Given the description of an element on the screen output the (x, y) to click on. 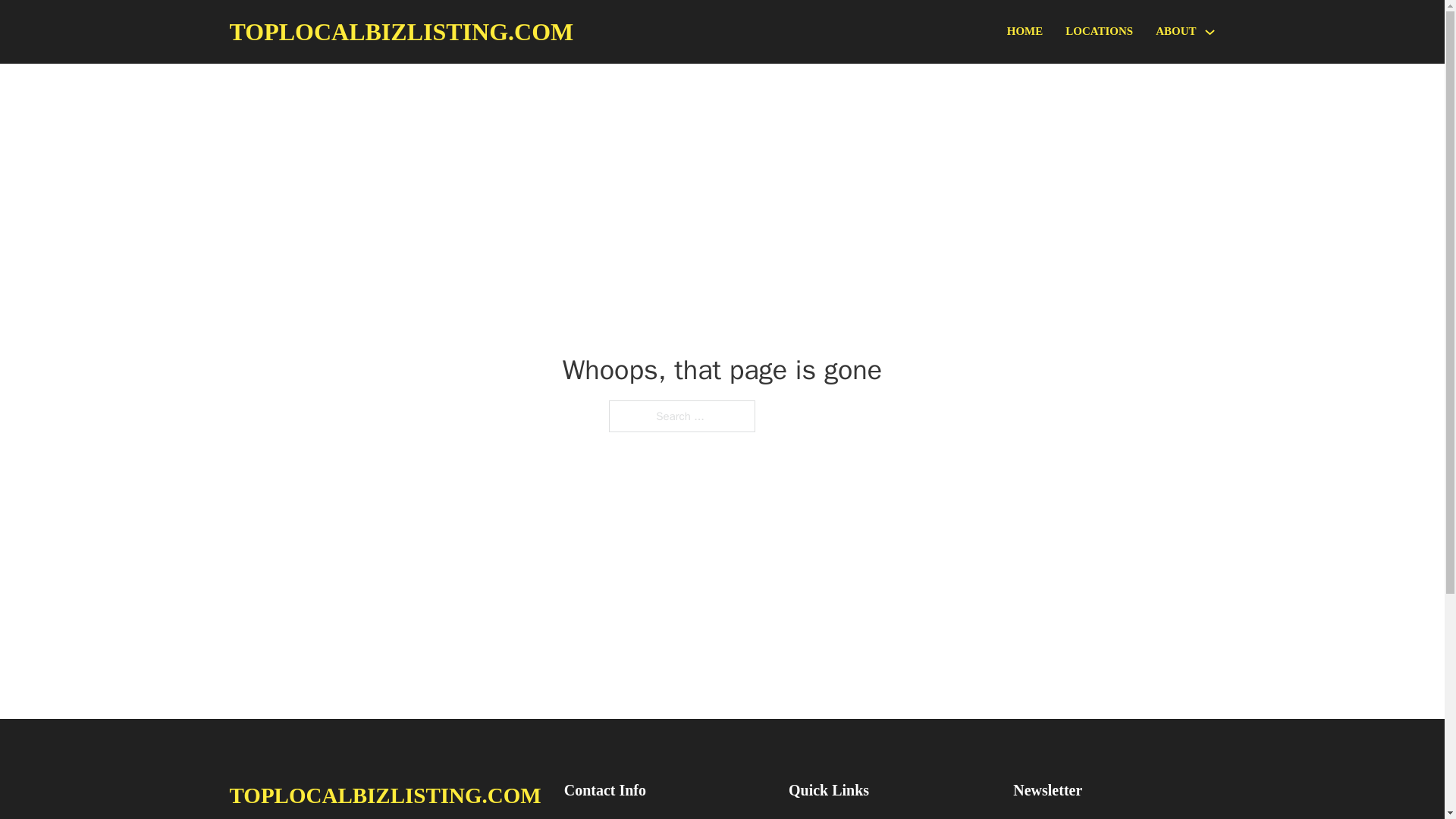
HOME (1025, 31)
TOPLOCALBIZLISTING.COM (384, 795)
TOPLOCALBIZLISTING.COM (400, 31)
LOCATIONS (1098, 31)
